Given the description of an element on the screen output the (x, y) to click on. 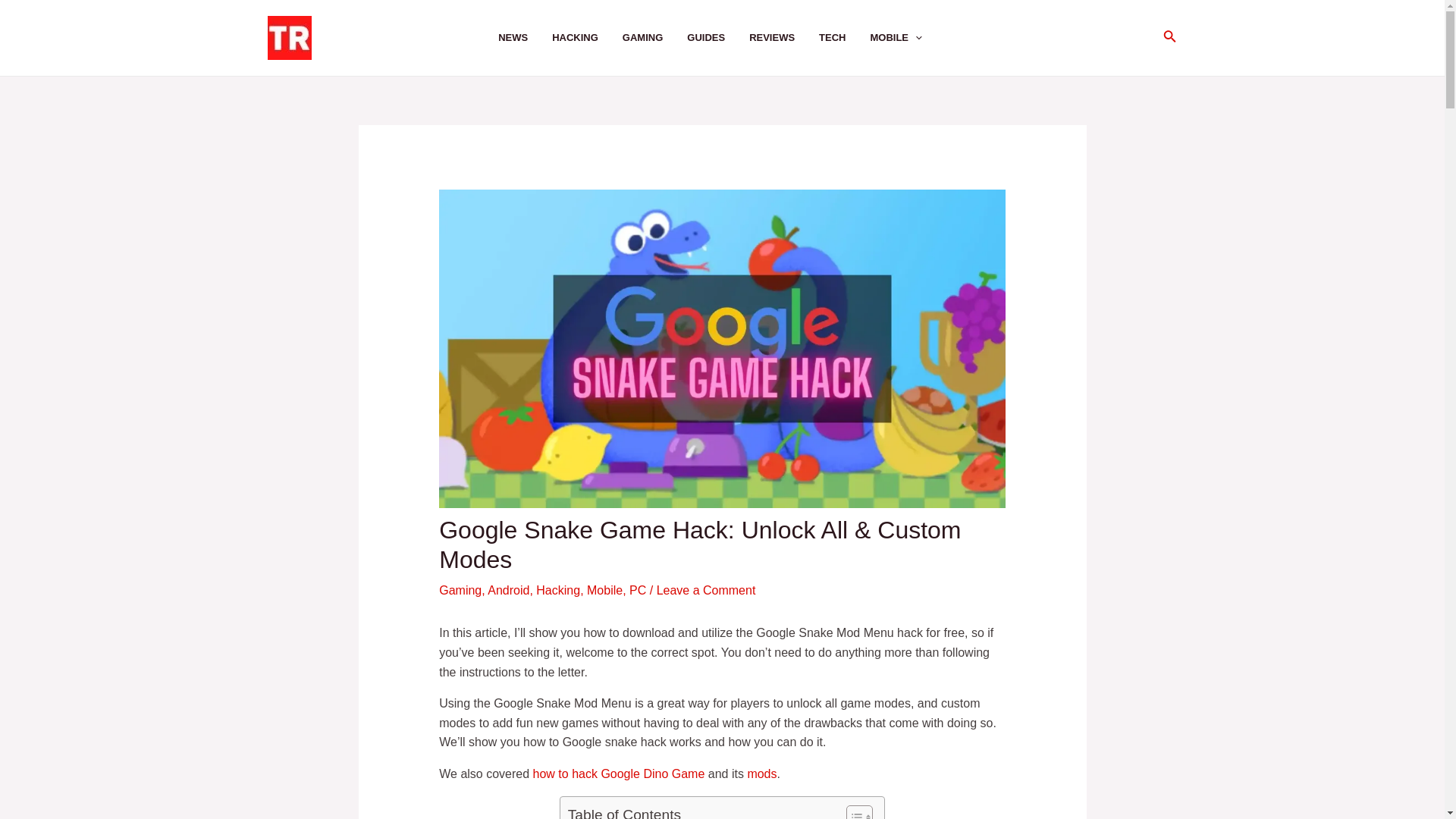
how to hack Google Dino Game (618, 773)
HACKING (587, 38)
Android (508, 590)
REVIEWS (783, 38)
MOBILE (906, 38)
Mobile (604, 590)
PC (637, 590)
Gaming (460, 590)
mods (761, 773)
Leave a Comment (705, 590)
Hacking (557, 590)
